Given the description of an element on the screen output the (x, y) to click on. 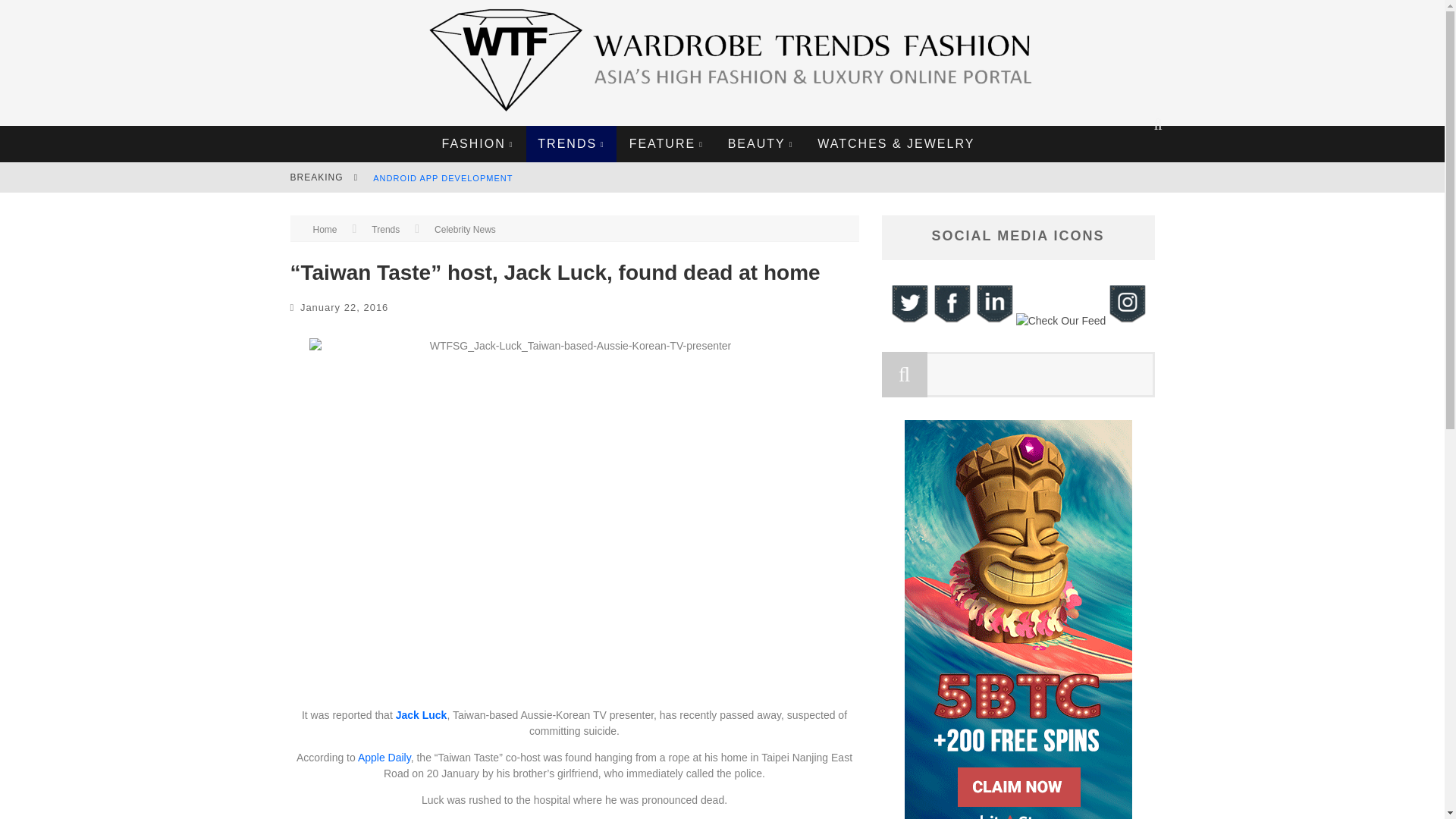
Visit Us On Linkedin (993, 320)
FASHION (477, 144)
Visit Us On Instagram (1126, 320)
View all posts in Trends (384, 229)
View all posts in Celebrity News (464, 229)
Check Our Feed (1060, 320)
Android App Development (442, 177)
Visit Us On Facebook (951, 320)
Visit Us On Twitter (909, 320)
